Given the description of an element on the screen output the (x, y) to click on. 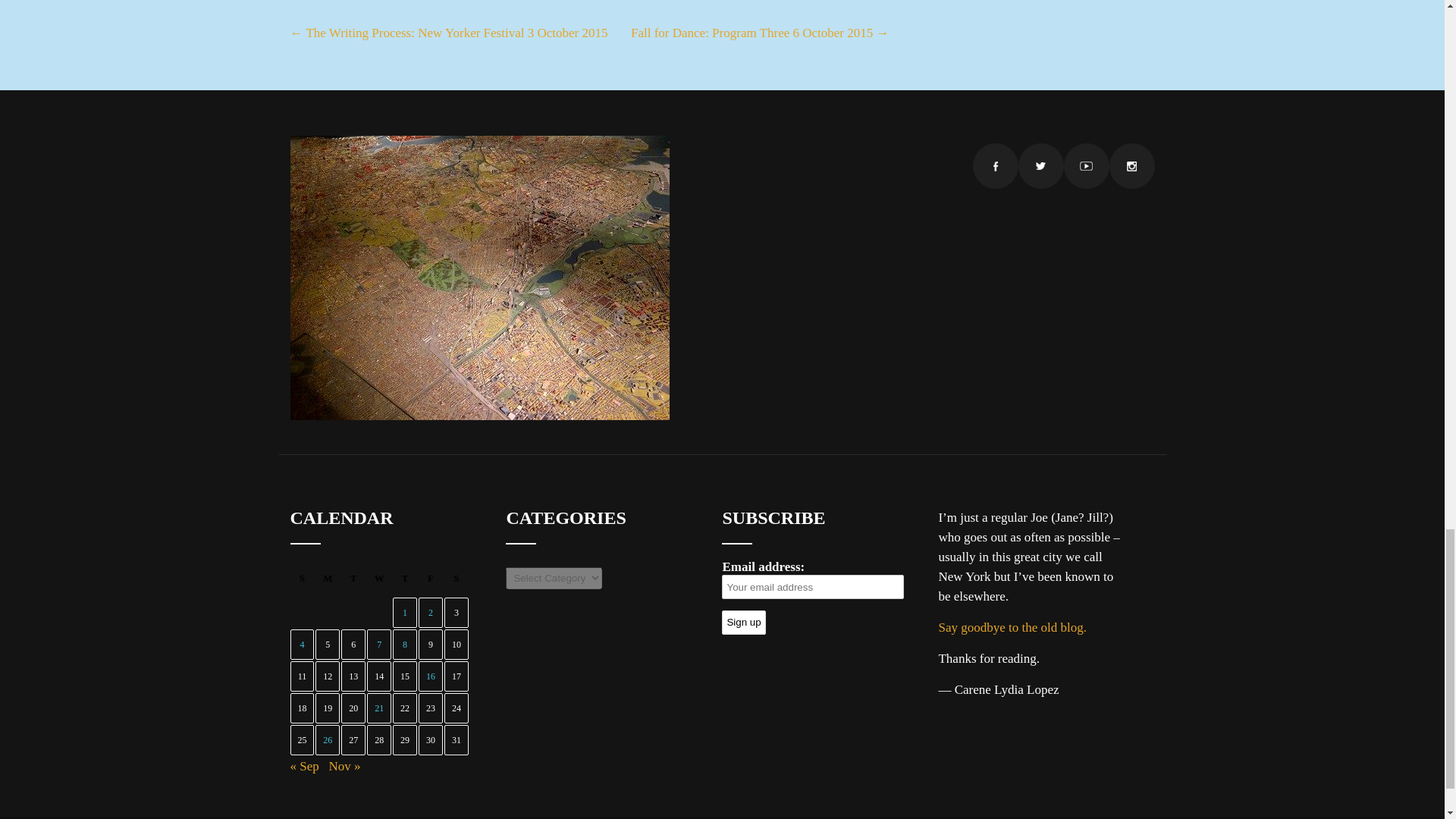
Youtube (1085, 166)
Sign up (743, 621)
Facebook (994, 166)
Instagram (1131, 166)
Twitter (1039, 166)
